Given the description of an element on the screen output the (x, y) to click on. 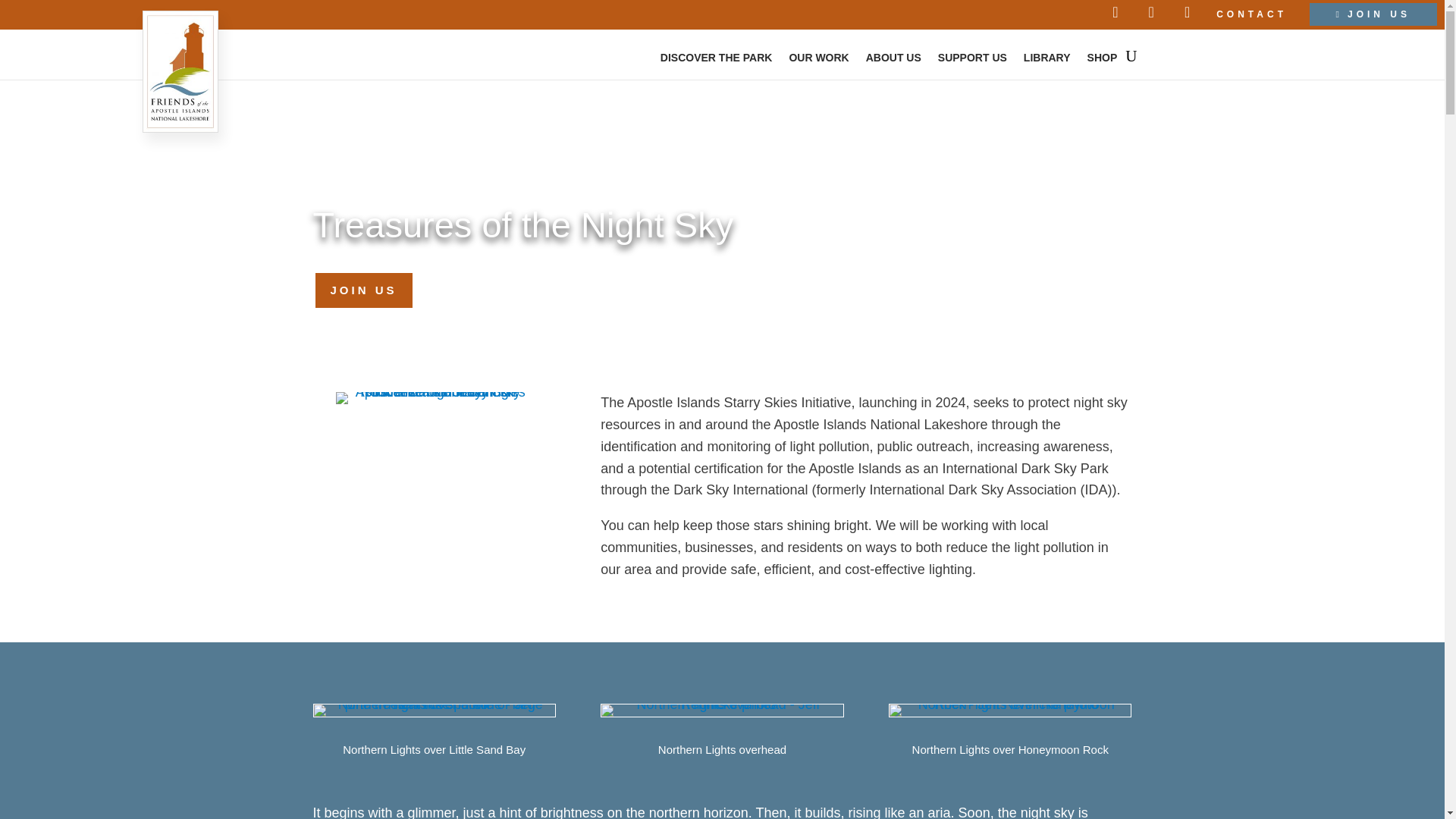
Open Instagram (1151, 12)
Northern-lights-over-trees-beach-and-water---Jeff-Rennicke (434, 710)
SHOP (1102, 58)
DISCOVER THE PARK (717, 58)
JOIN US (363, 290)
Click for the site Home page (179, 71)
ABOUT US (893, 58)
Open YouTube (1185, 12)
Northern lights over Honeymoon Rock - Jeff Rennicke photo (1009, 703)
LIBRARY (1046, 58)
JOIN US (1372, 14)
Northern-Lights-overhead---Jeff-Rennicke (722, 710)
SUPPORT US (972, 58)
Starry Skies Initiative (434, 398)
